Given the description of an element on the screen output the (x, y) to click on. 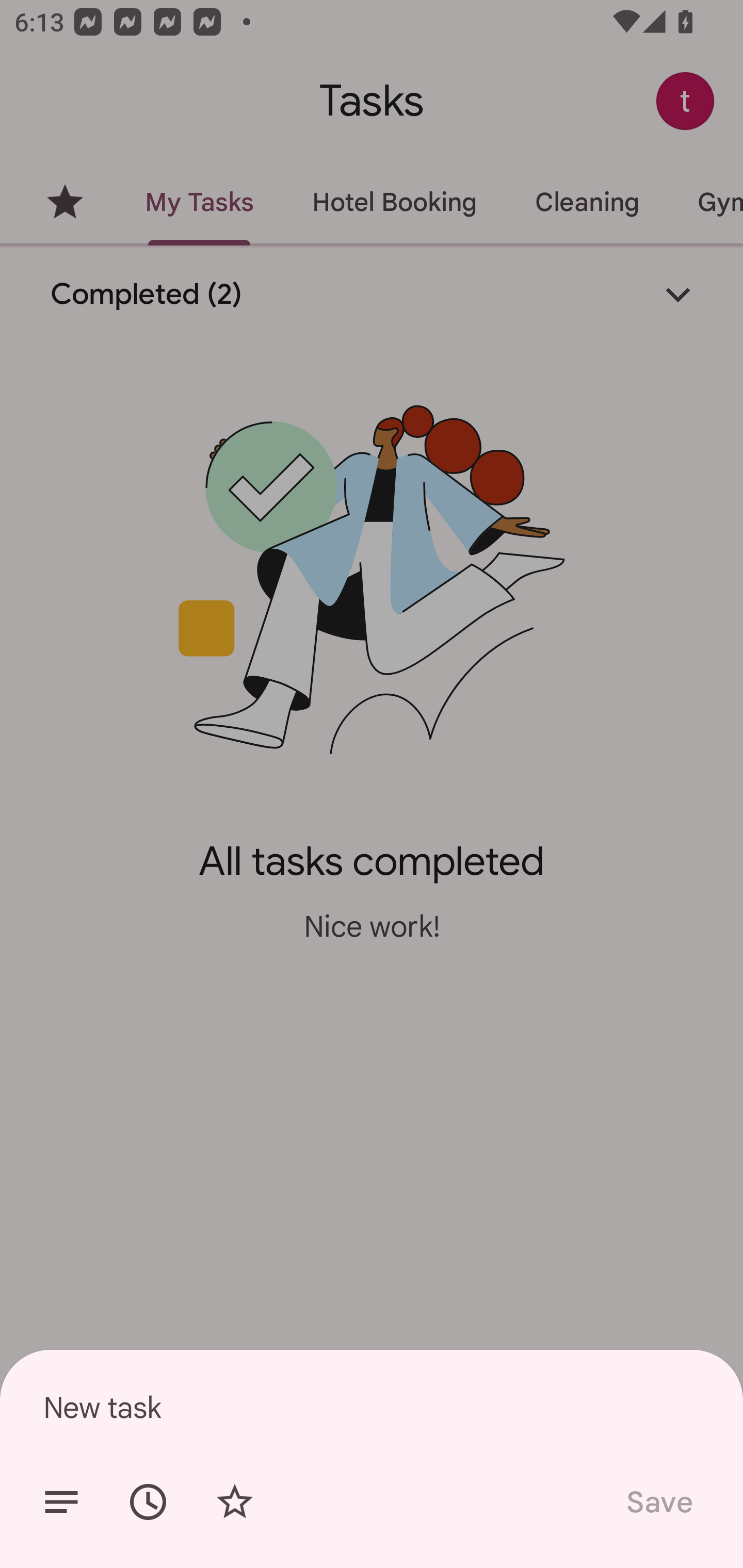
New task (371, 1407)
Save (659, 1501)
Add details (60, 1501)
Set date/time (147, 1501)
Add star (234, 1501)
